Given the description of an element on the screen output the (x, y) to click on. 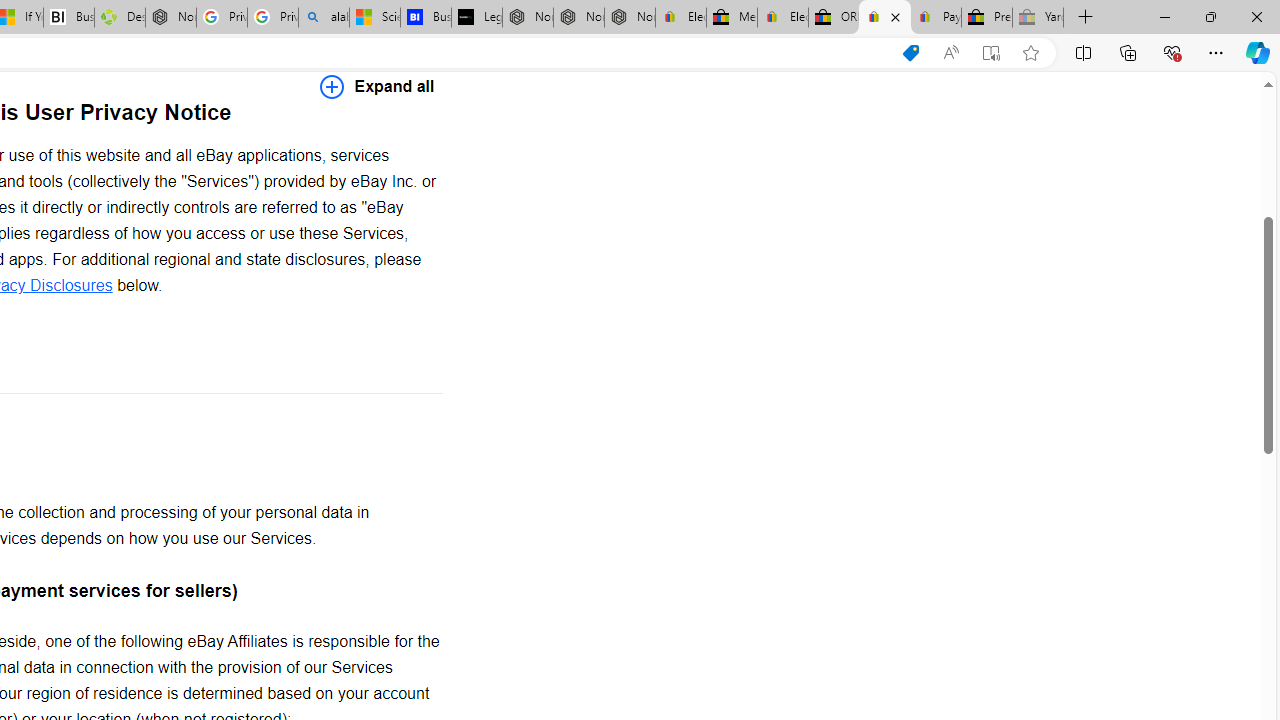
Descarga Driver Updater (119, 17)
Enter Immersive Reader (F9) (991, 53)
